Given the description of an element on the screen output the (x, y) to click on. 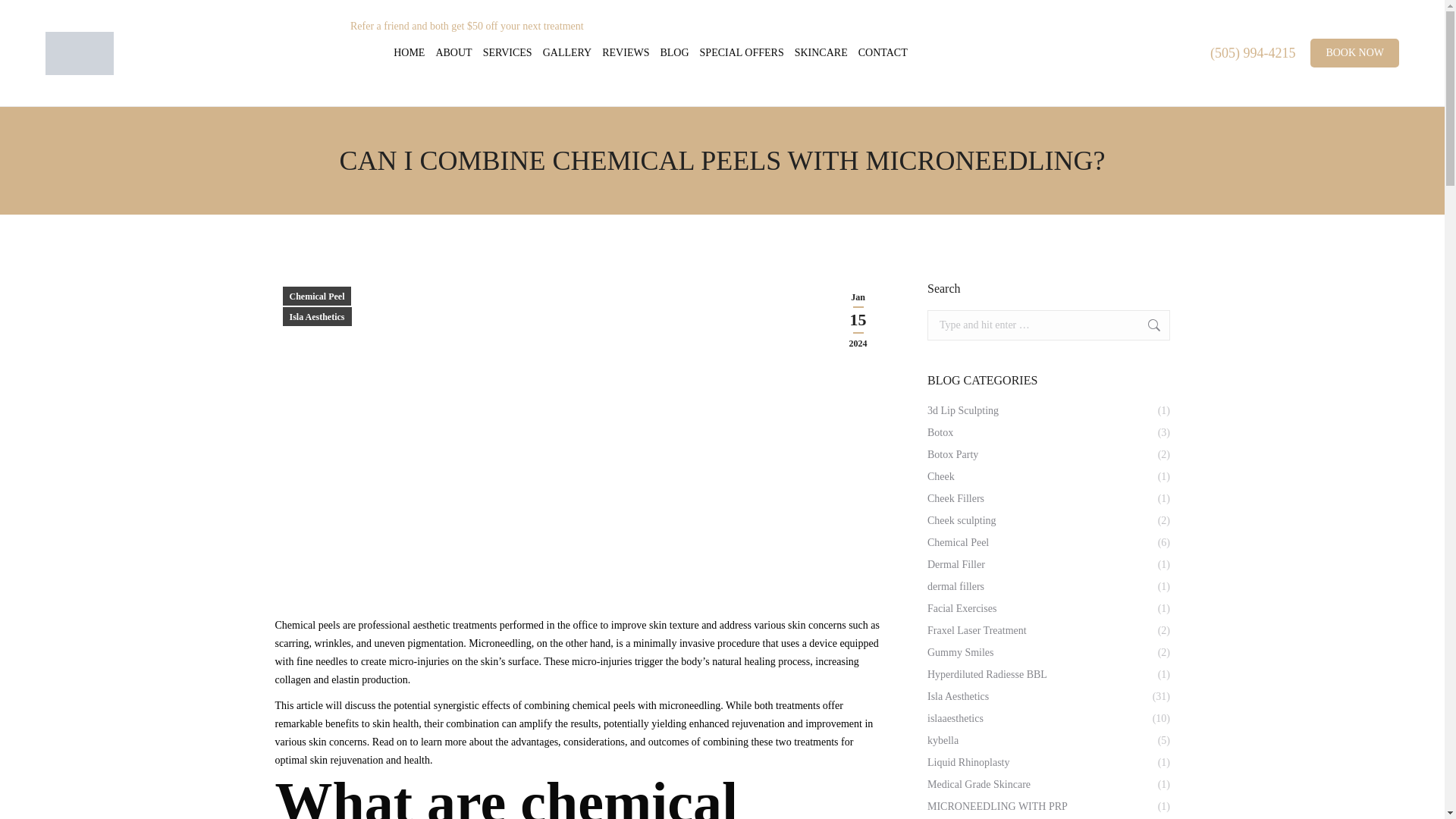
REVIEWS (624, 53)
SPECIAL OFFERS (742, 53)
BOOK NOW (1354, 52)
Go! (1143, 325)
ABOUT (453, 53)
HOME (408, 53)
SERVICES (507, 53)
SKINCARE (820, 53)
BLOG (674, 53)
CONTACT (882, 53)
